Given the description of an element on the screen output the (x, y) to click on. 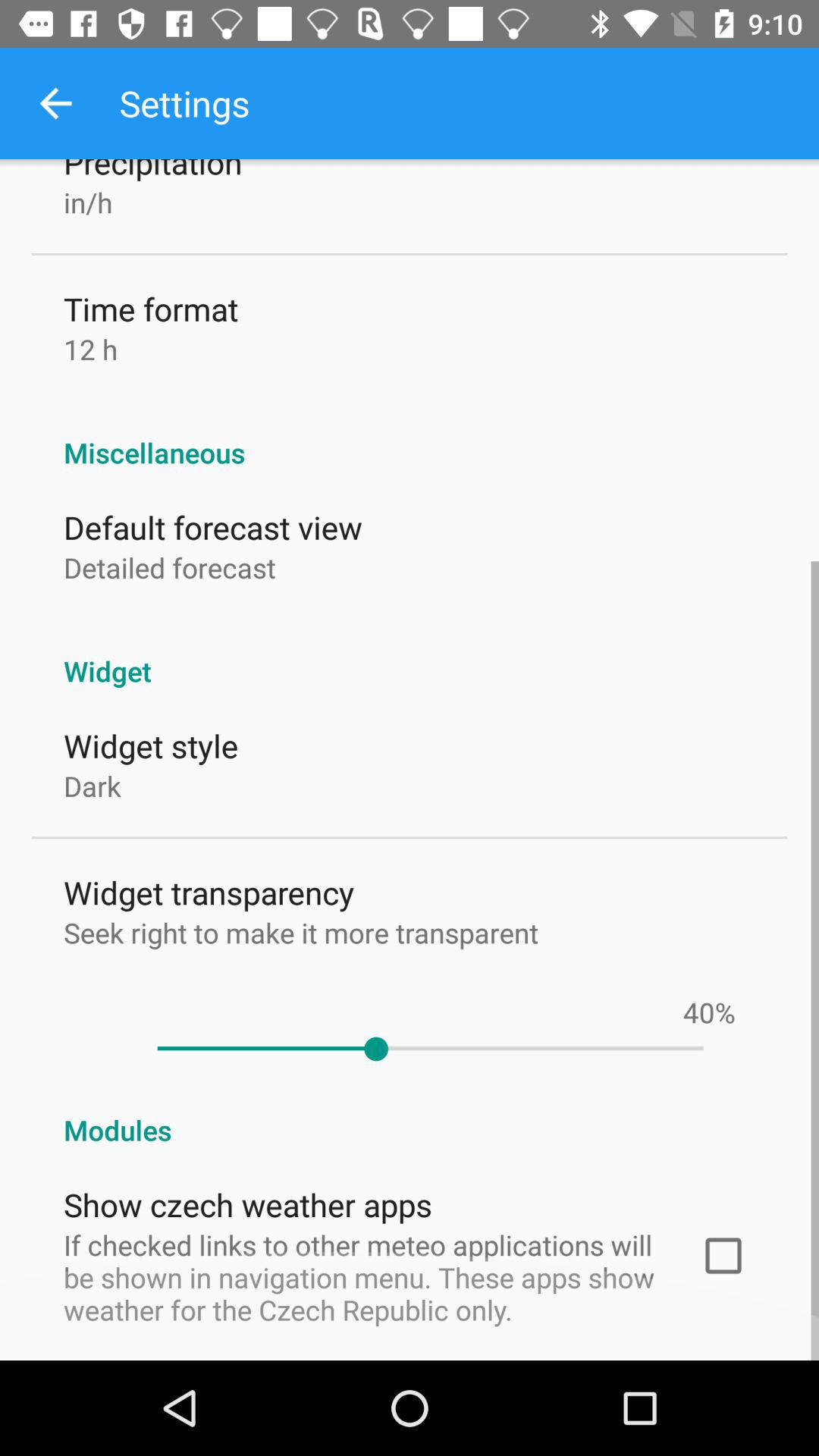
go back button (55, 103)
